Given the description of an element on the screen output the (x, y) to click on. 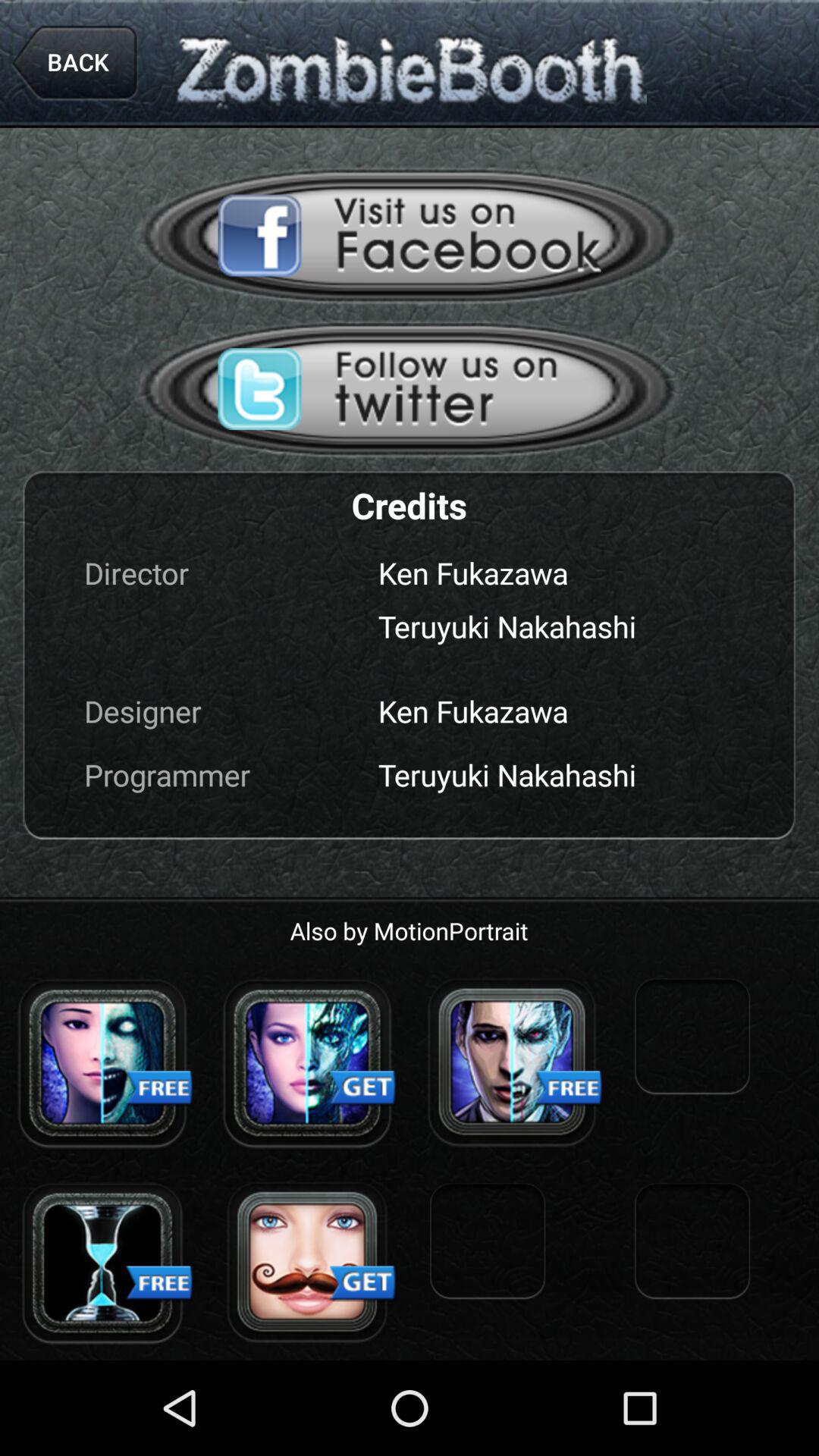
select mode (511, 1062)
